Given the description of an element on the screen output the (x, y) to click on. 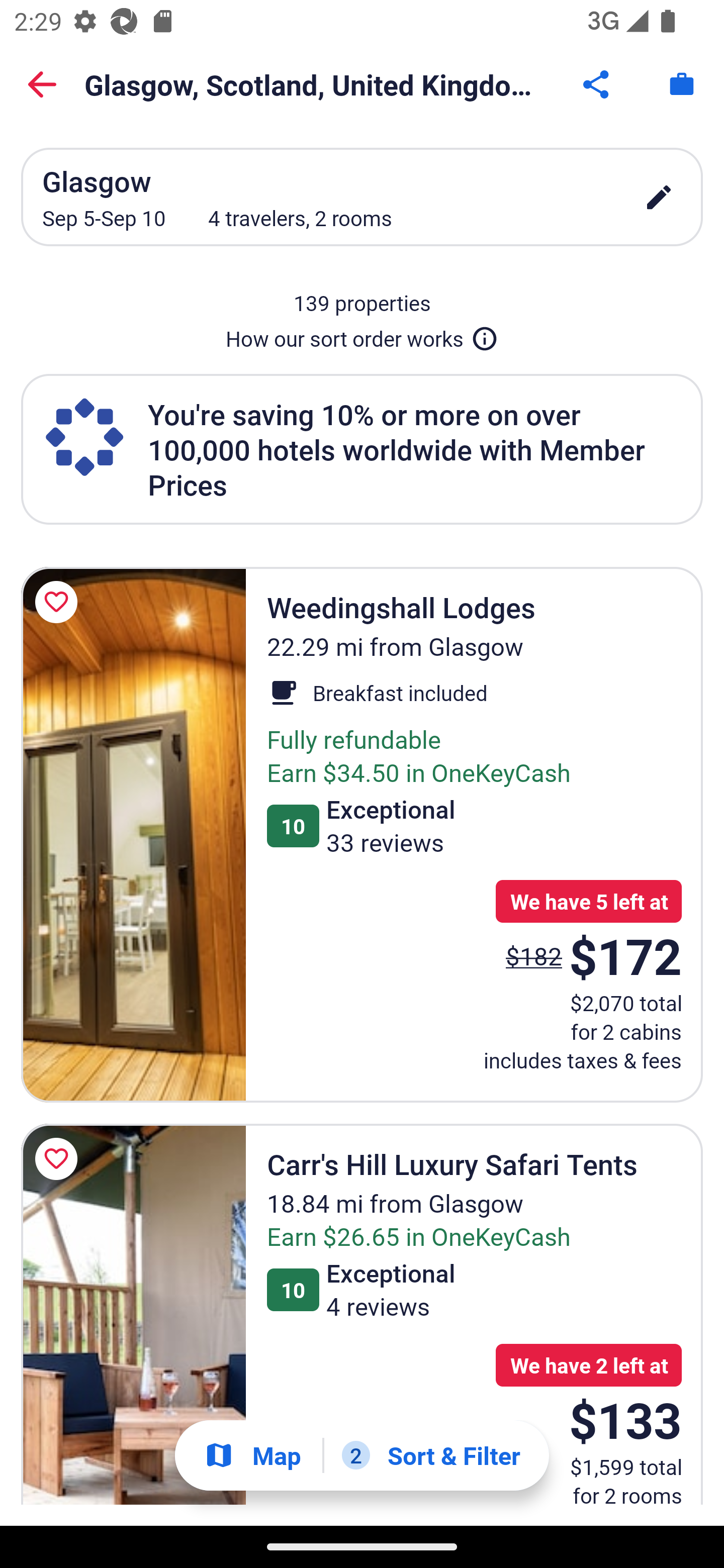
Back (42, 84)
Share Button (597, 84)
Trips. Button (681, 84)
Glasgow Sep 5-Sep 10 4 travelers, 2 rooms edit (361, 196)
How our sort order works (361, 334)
Save Weedingshall Lodges to a trip (59, 601)
Weedingshall Lodges (133, 834)
$182 The price was $182 (533, 956)
Save Carr's Hill Luxury Safari Tents to a trip (59, 1158)
Carr's Hill Luxury Safari Tents (133, 1314)
2 Sort & Filter 2 Filters applied. Filters Button (430, 1455)
Show map Map Show map Button (252, 1455)
